Given the description of an element on the screen output the (x, y) to click on. 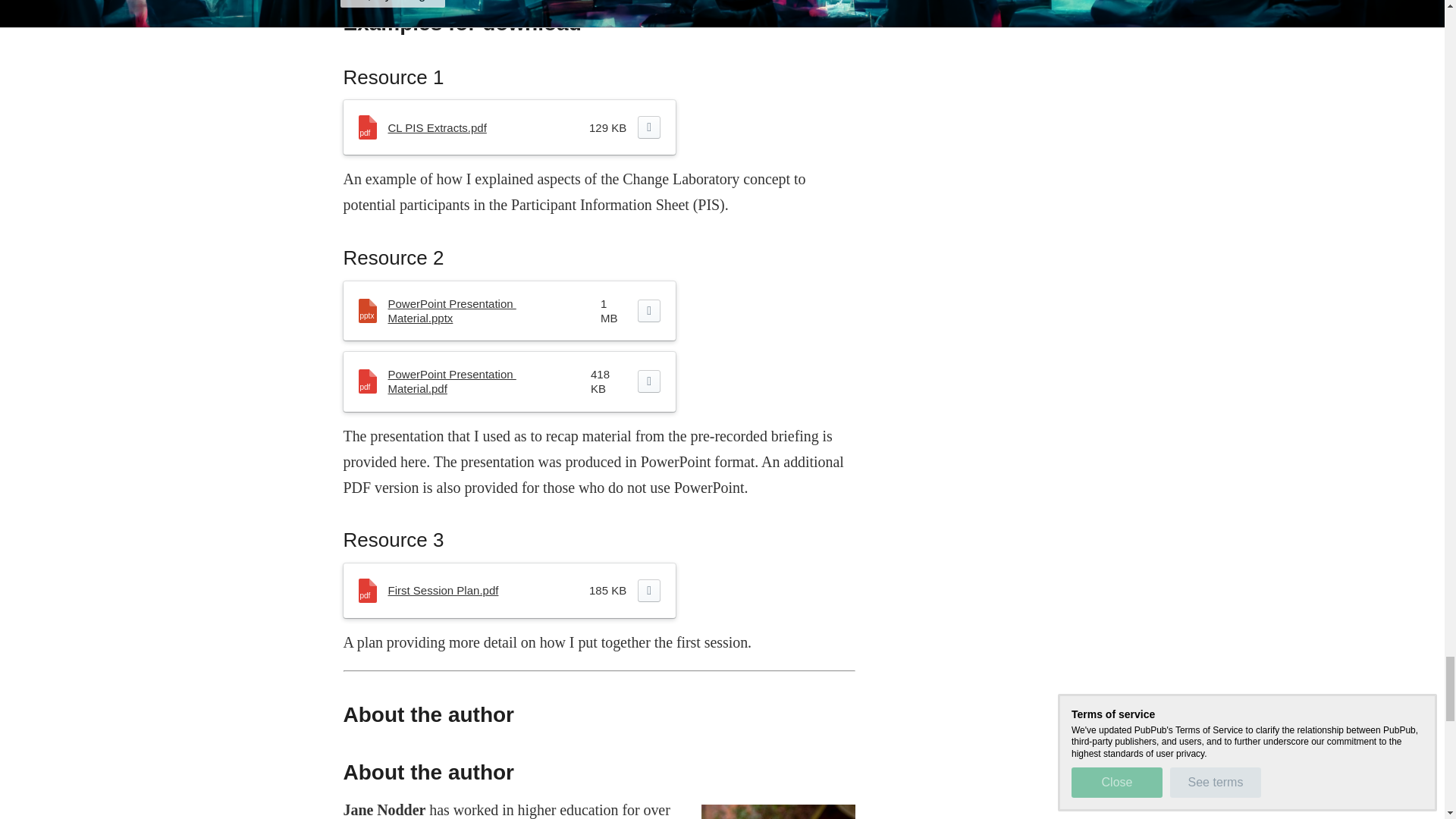
PowerPoint Presentation Material.pptx (452, 310)
PowerPoint Presentation Material.pdf (452, 380)
First Session Plan.pdf (443, 590)
CL PIS Extracts.pdf (437, 127)
